Given the description of an element on the screen output the (x, y) to click on. 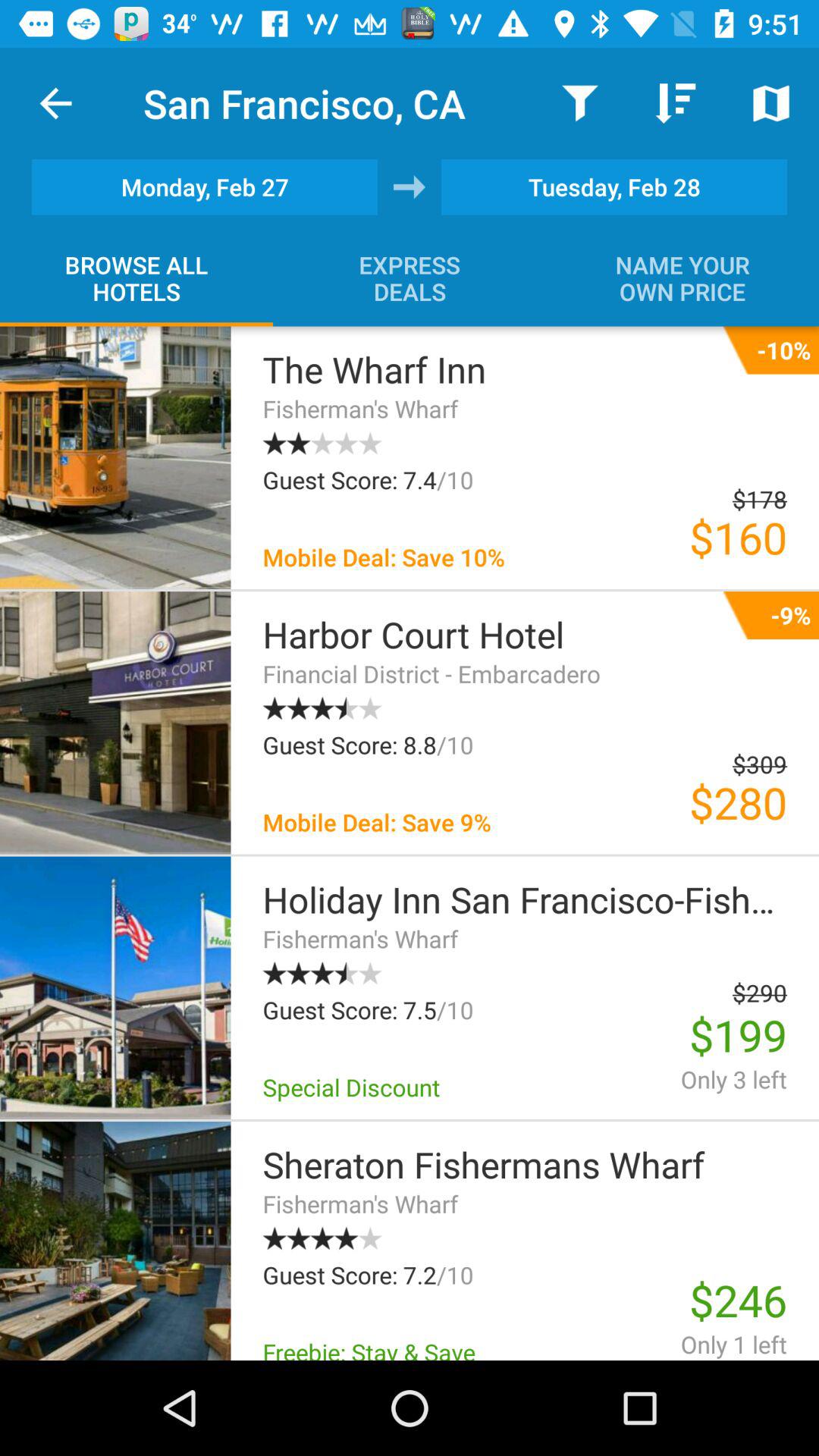
launch the icon next to san francisco, ca (579, 103)
